Given the description of an element on the screen output the (x, y) to click on. 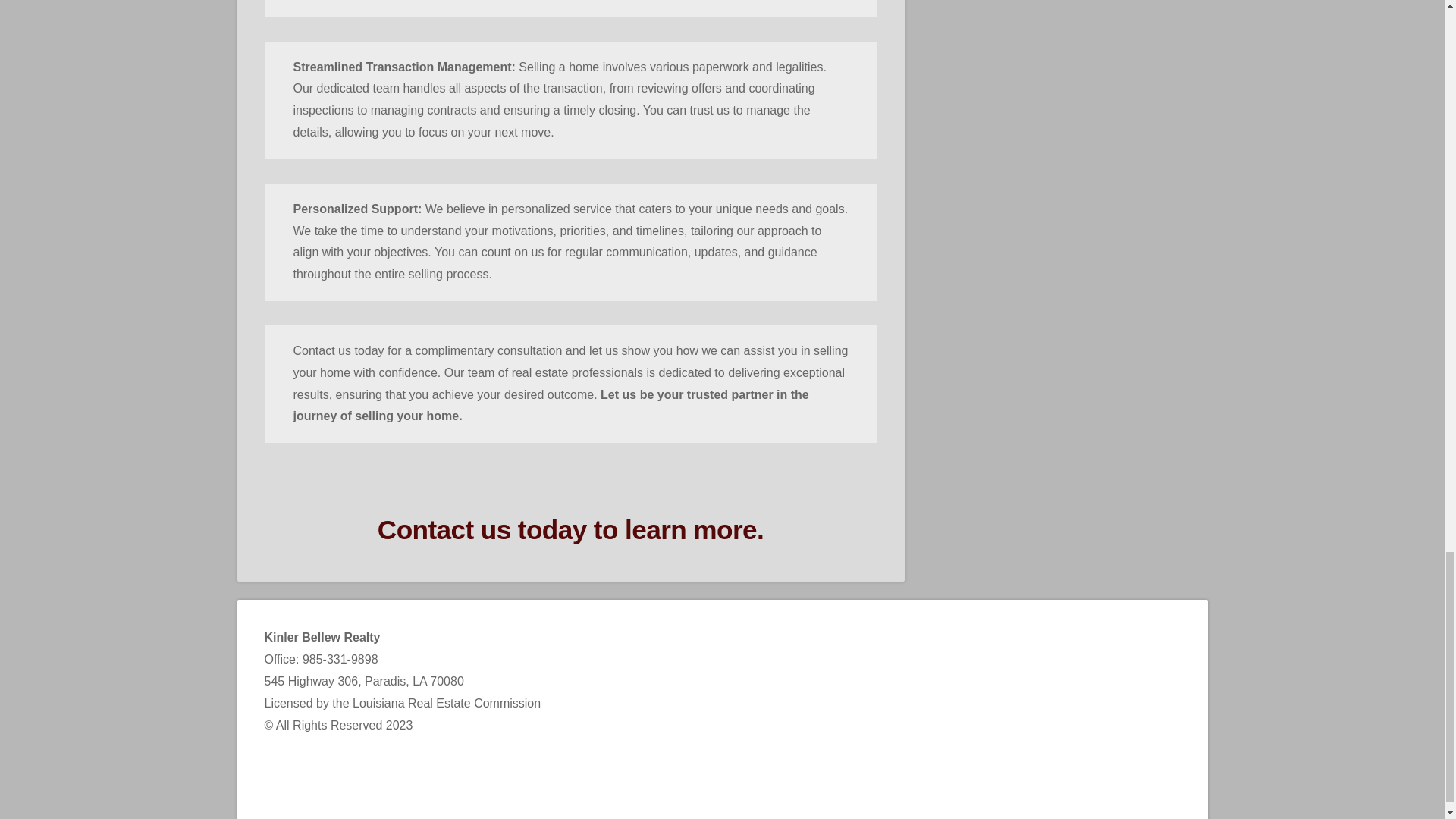
Contact us today to learn more. (569, 529)
